Given the description of an element on the screen output the (x, y) to click on. 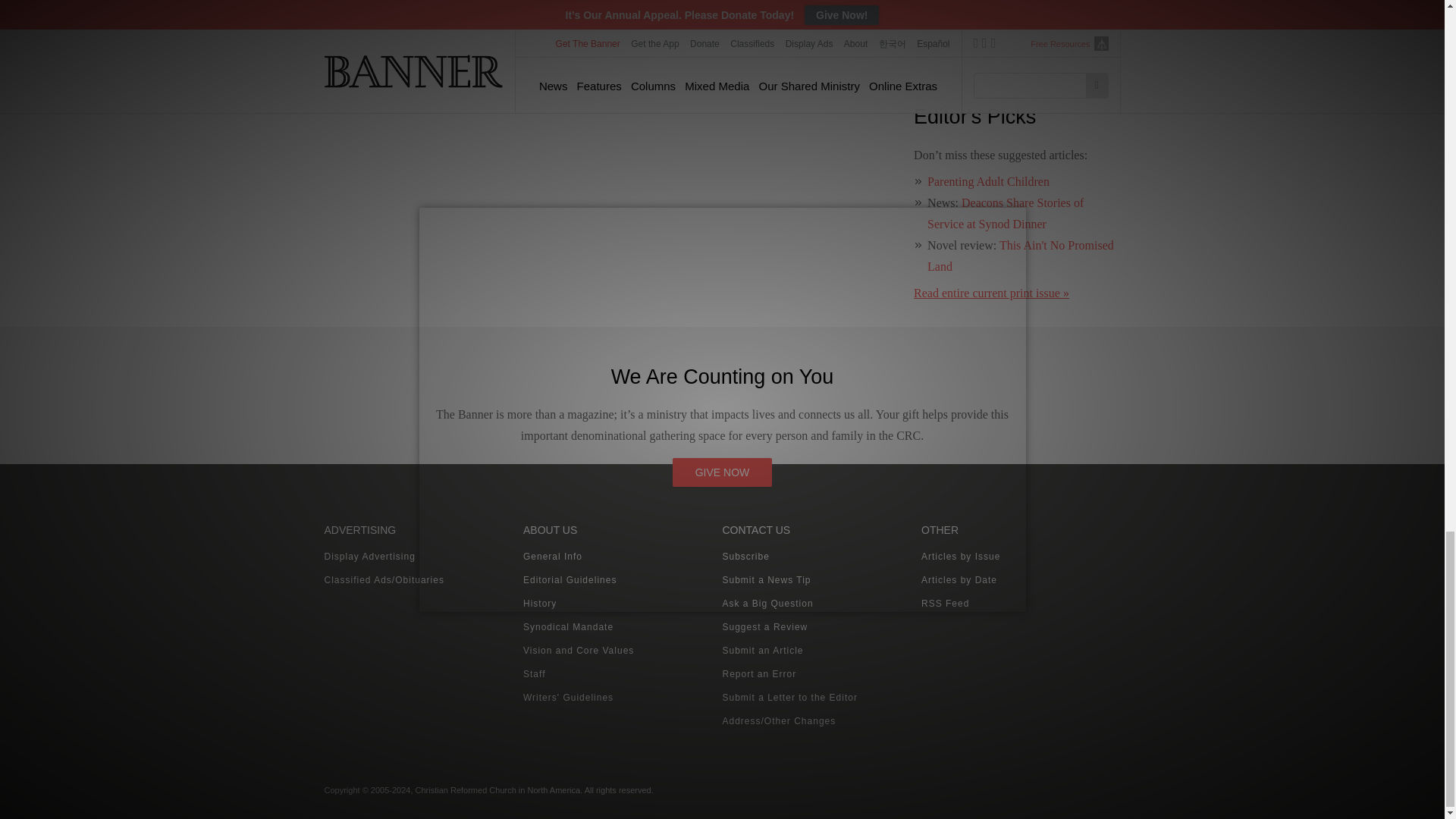
Deacons Share Stories of Service at Synod Dinner (1005, 213)
This Ain't No Promised Land (1020, 255)
2011 : Two Commanding Lessons (1010, 28)
2024 : Pastors Practice Spiritual Resting (1005, 59)
Parenting Adult Children (988, 181)
